Given the description of an element on the screen output the (x, y) to click on. 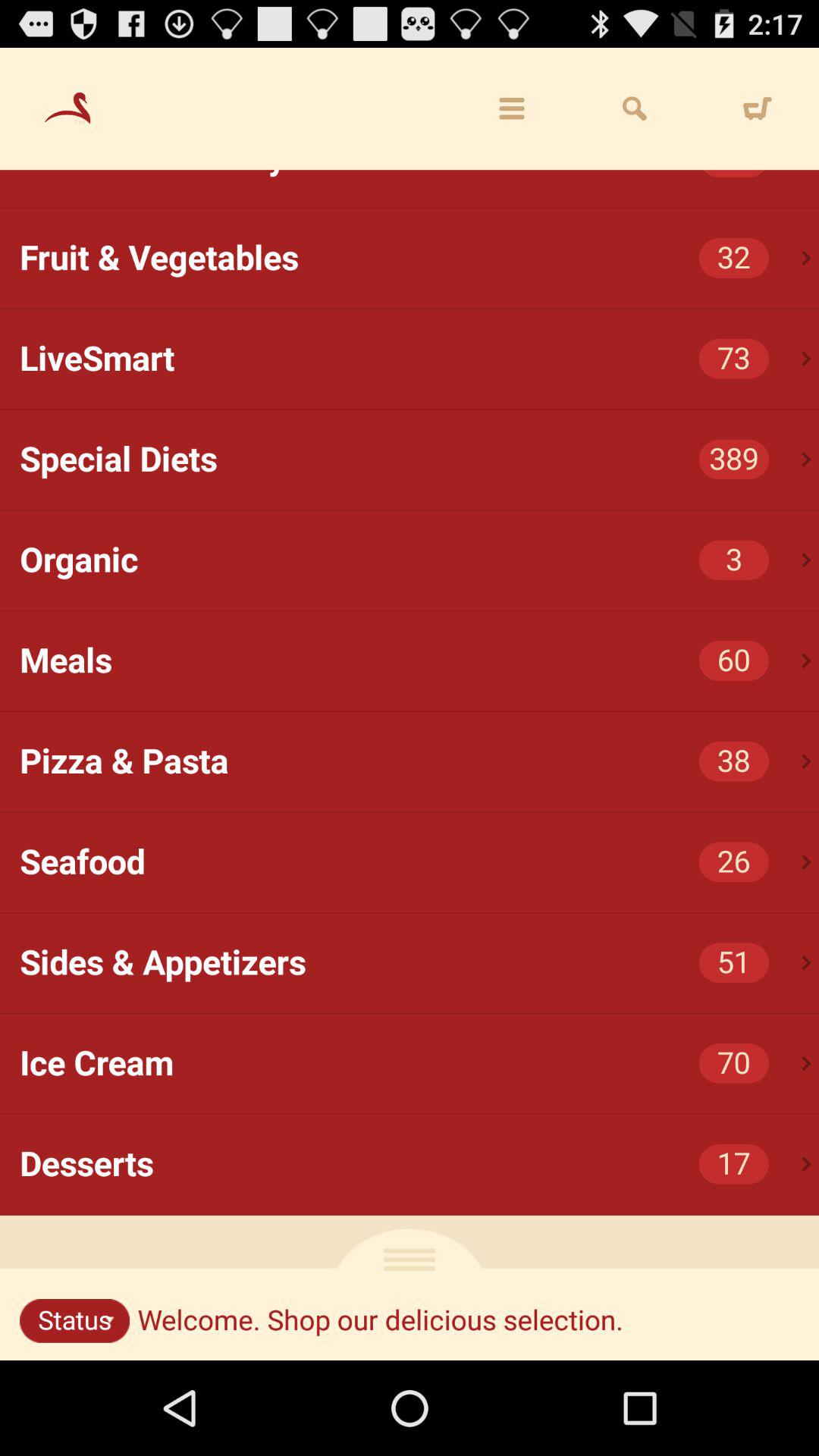
jump until the seafood icon (419, 862)
